Given the description of an element on the screen output the (x, y) to click on. 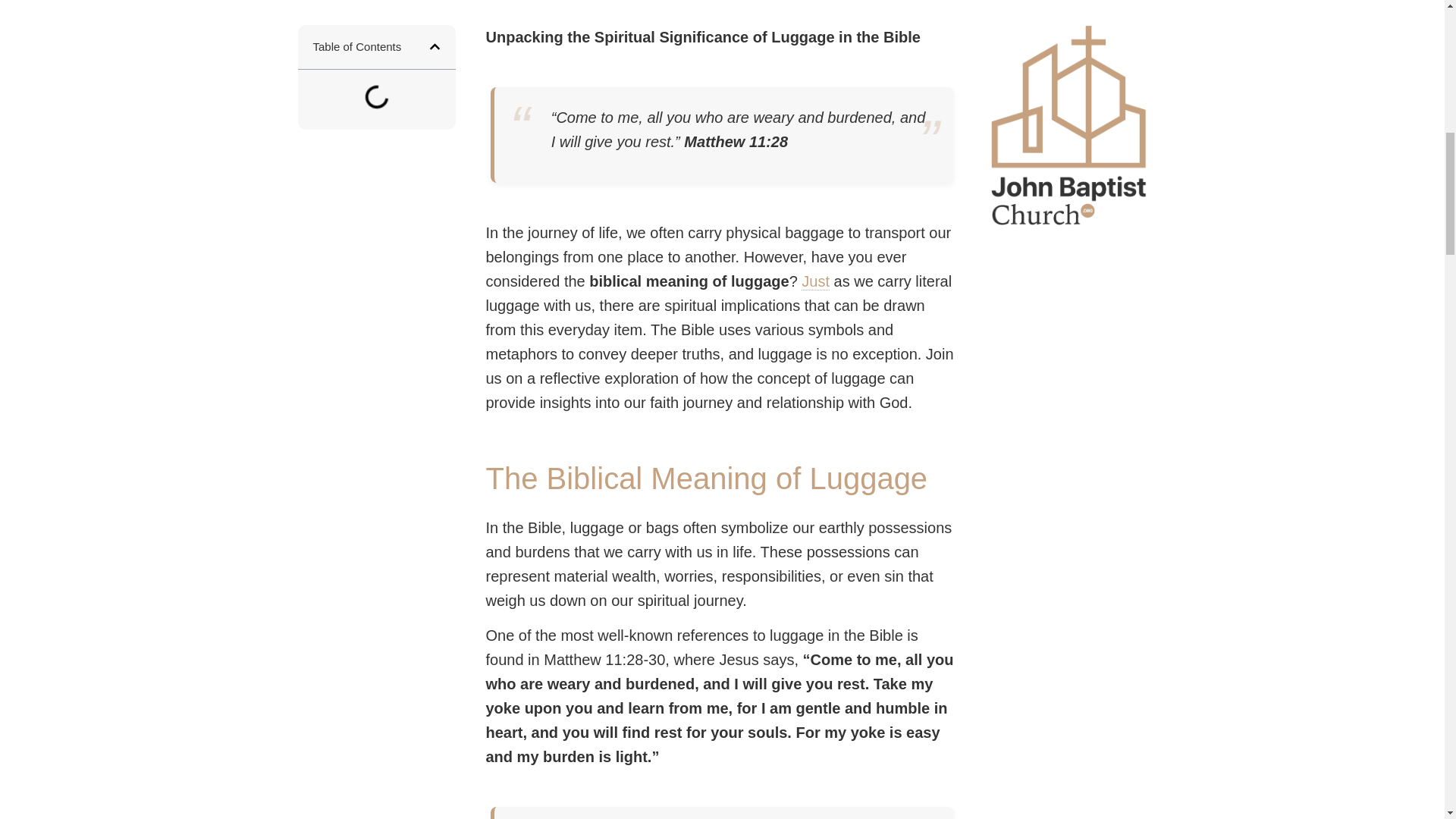
Just (815, 281)
Just (815, 281)
